Given the description of an element on the screen output the (x, y) to click on. 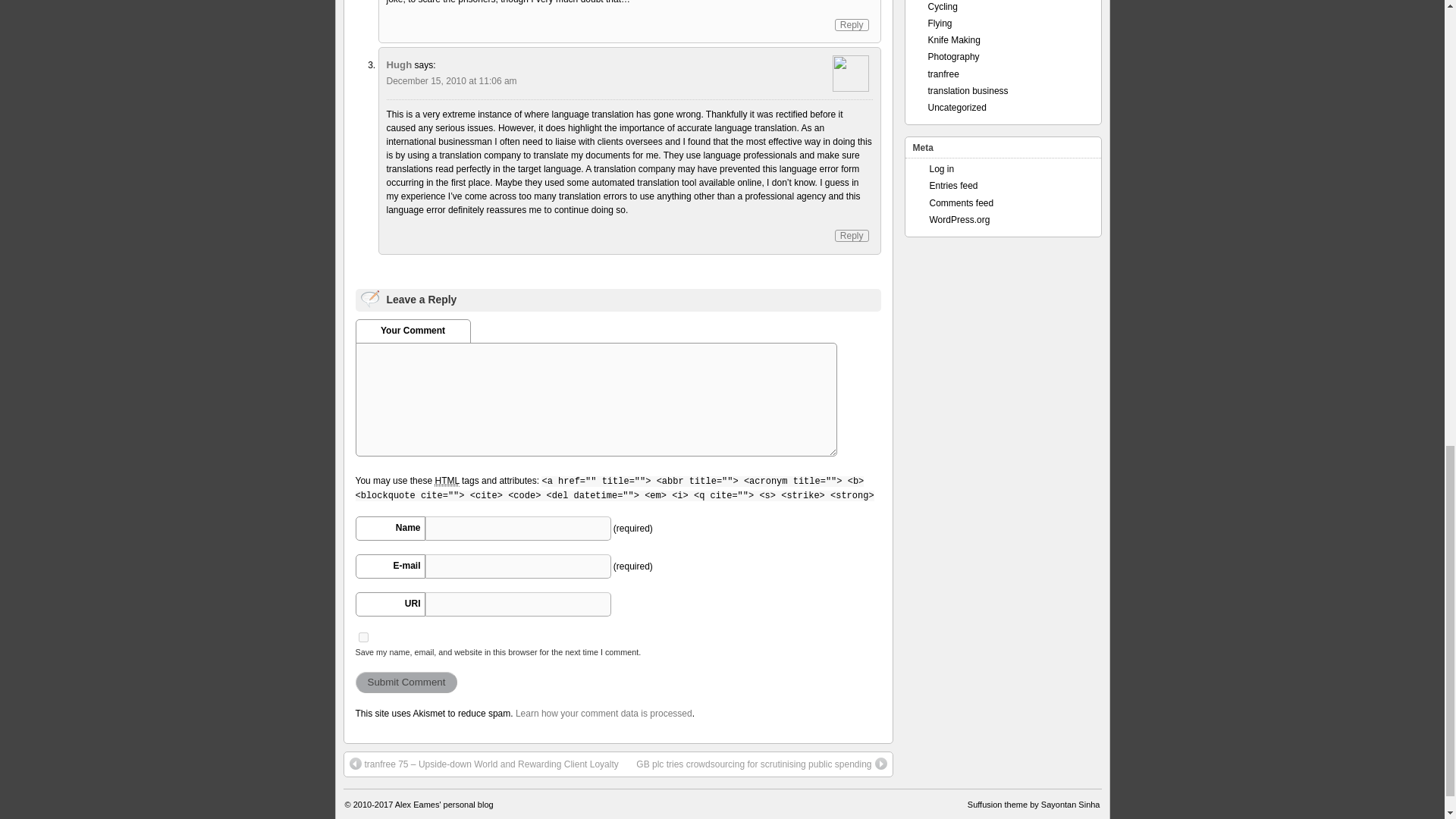
yes (363, 637)
Submit Comment (406, 681)
HyperText Markup Language (445, 480)
Learn how your comment data is processed (604, 713)
Reply (851, 24)
Submit Comment (406, 681)
December 15, 2010 at 11:06 am (451, 81)
Reply (851, 235)
